Given the description of an element on the screen output the (x, y) to click on. 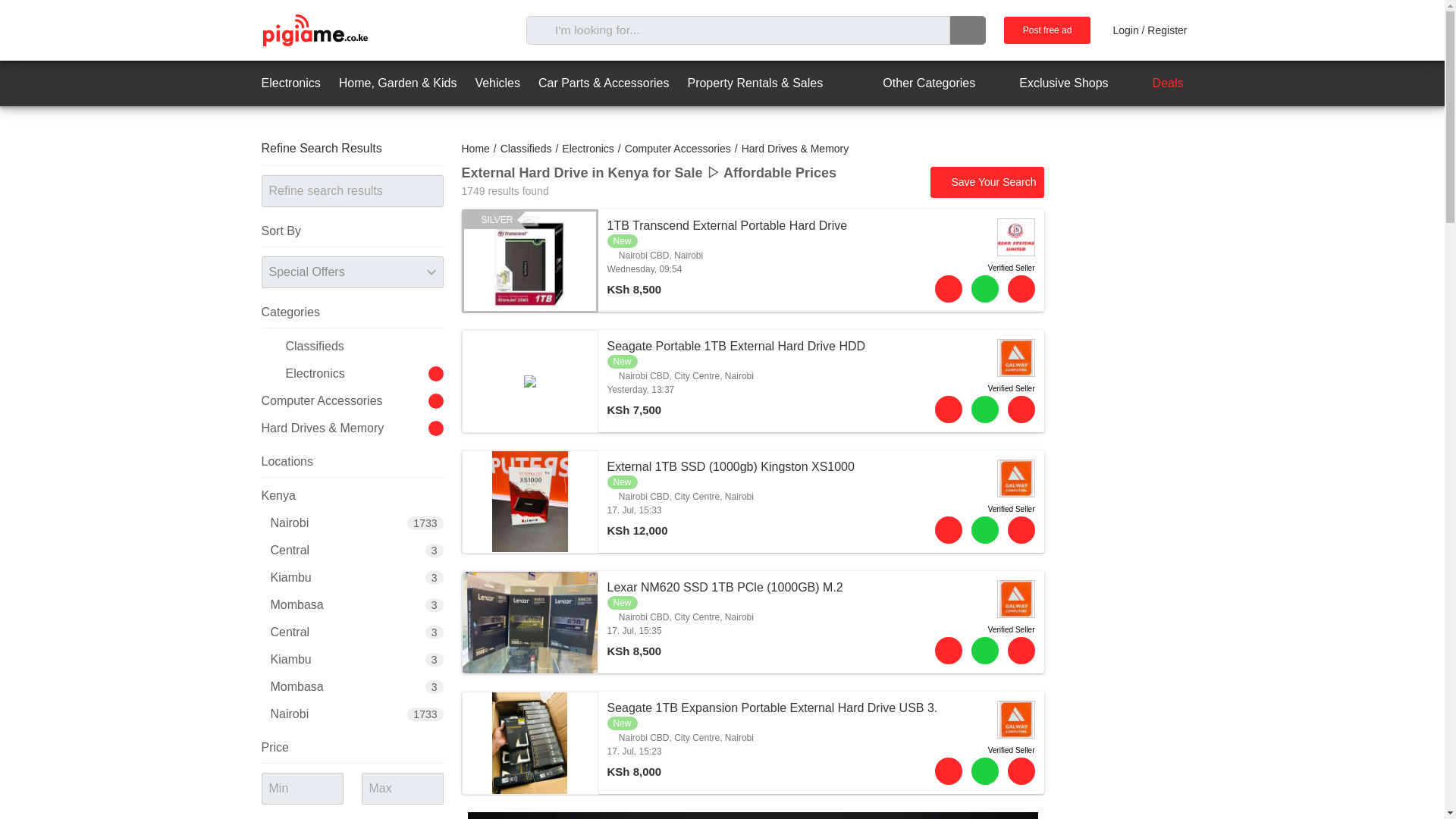
Deals (1155, 83)
Classifieds (525, 148)
Other Categories (915, 83)
Exclusive Shops (1050, 83)
Electronics (290, 83)
Vehicles (497, 83)
Home (475, 148)
PigiaMe (314, 29)
Computer Accessories (677, 148)
Post free ad (1047, 30)
Electronics (587, 148)
